Given the description of an element on the screen output the (x, y) to click on. 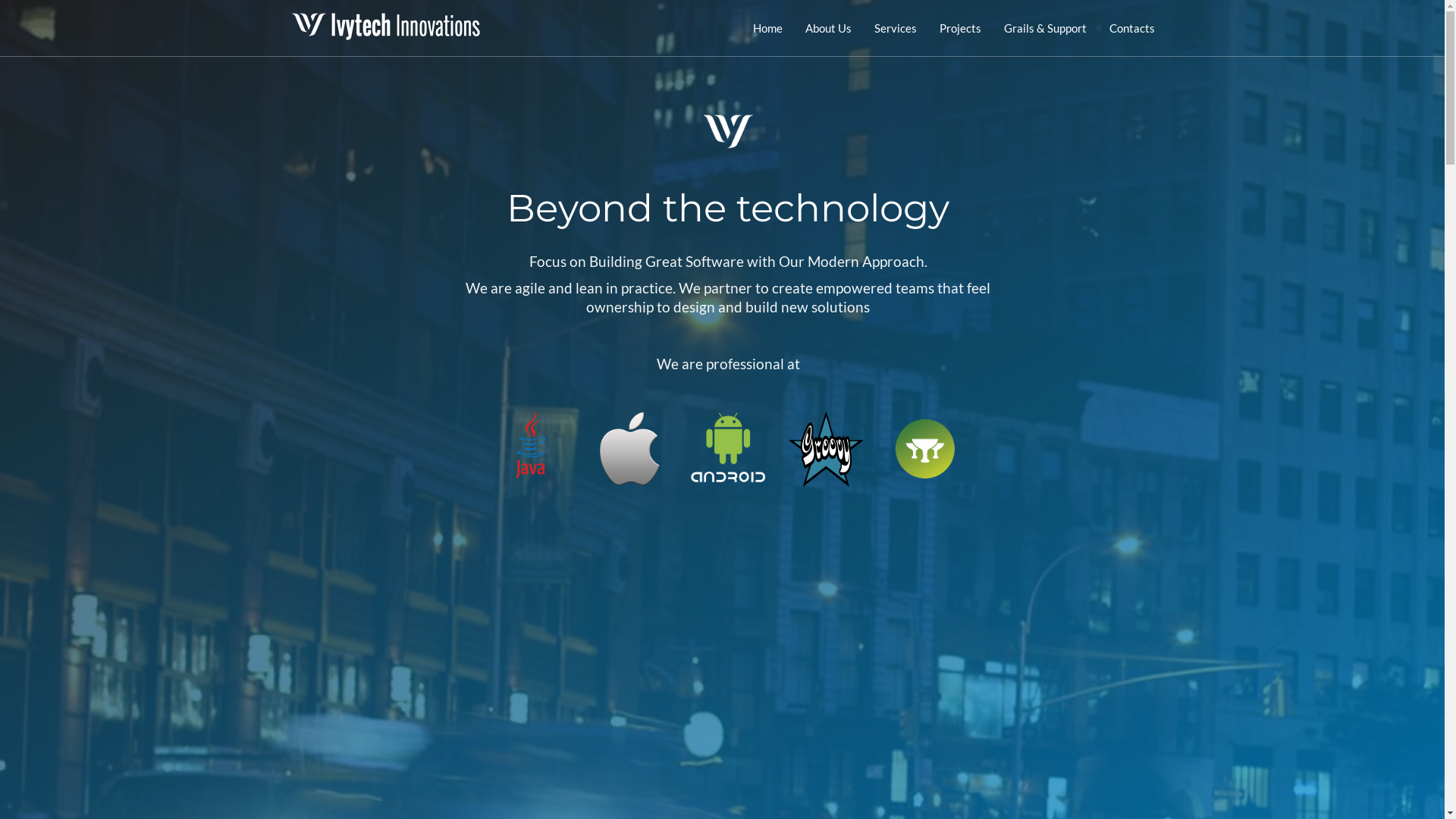
About Us Element type: text (827, 28)
Contacts Element type: text (1132, 28)
Projects Element type: text (960, 28)
Services Element type: text (895, 28)
Grails & Support Element type: text (1044, 28)
Home Element type: text (767, 28)
